Given the description of an element on the screen output the (x, y) to click on. 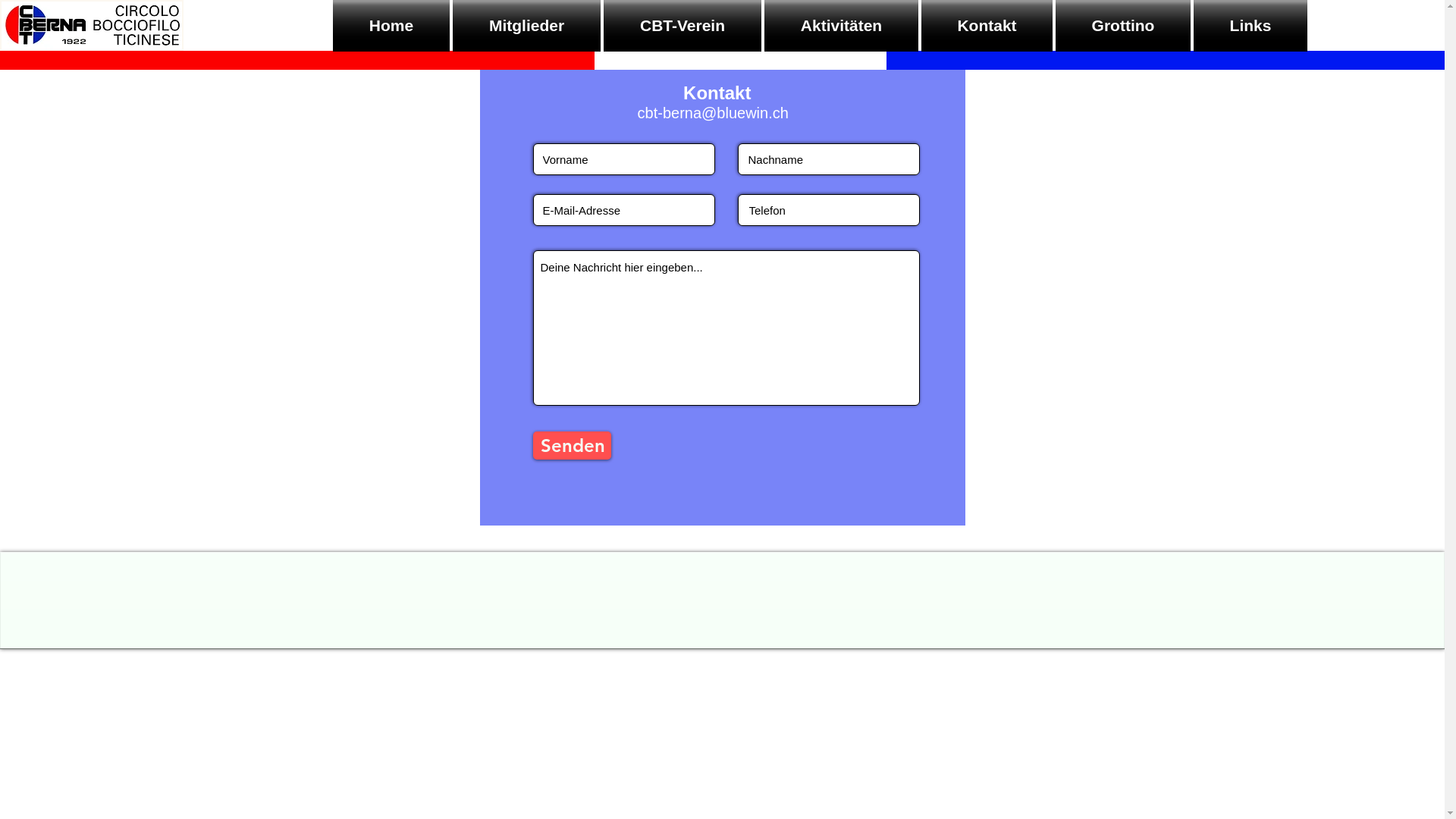
Links Element type: text (1249, 25)
Grottino Element type: text (1123, 25)
cbt-berna@bluewin.ch Element type: text (712, 112)
Kontakt Element type: text (986, 25)
Senden Element type: text (571, 445)
Mitglieder Element type: text (526, 25)
Home Element type: text (391, 25)
CBT-Verein Element type: text (682, 25)
